Given the description of an element on the screen output the (x, y) to click on. 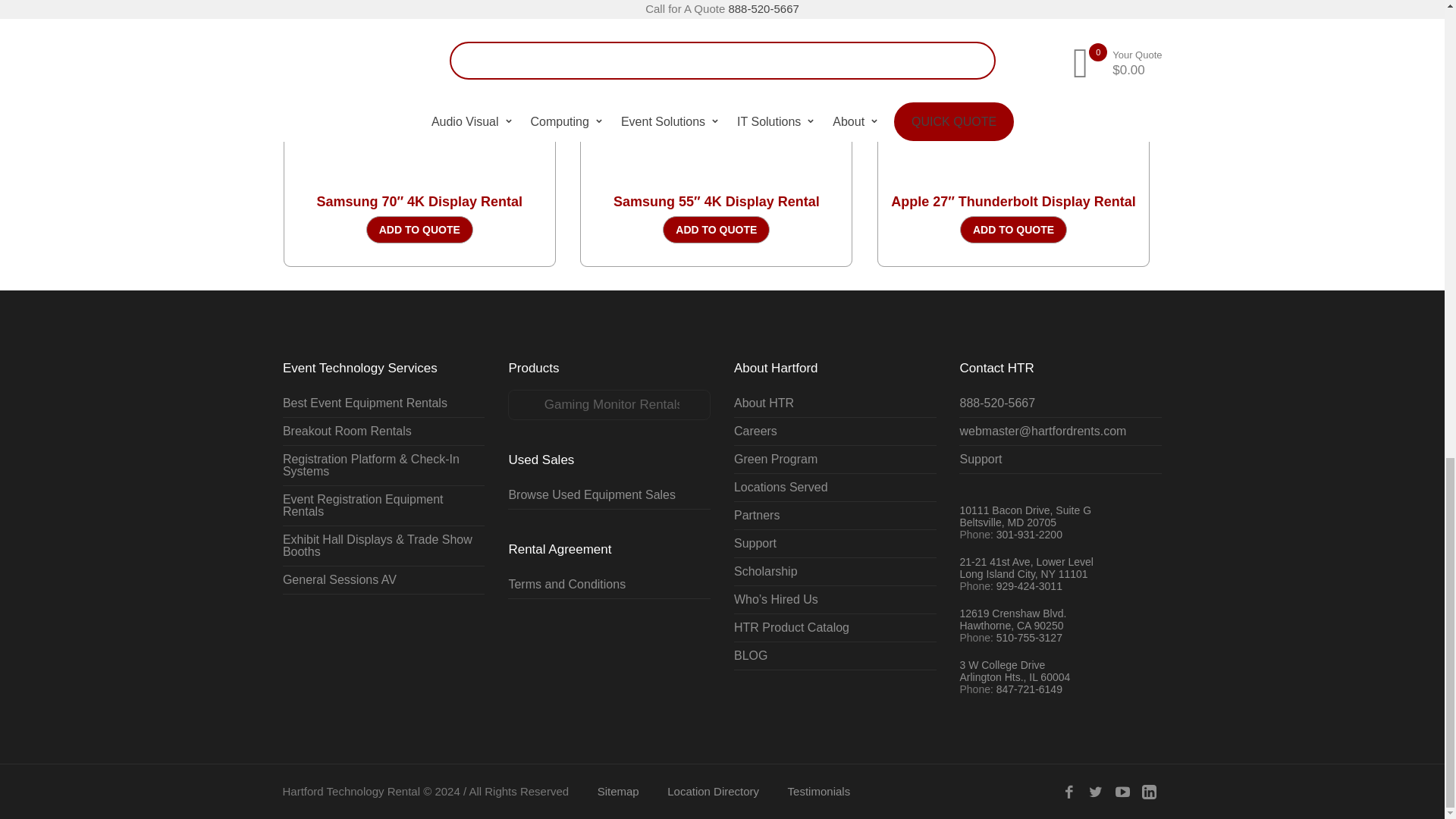
Add to Quote (419, 229)
Twitter (1095, 791)
Linked In (1148, 791)
Add to Quote (716, 229)
Add to Quote (1013, 229)
YouTube (1122, 791)
Facebook (1068, 791)
